Given the description of an element on the screen output the (x, y) to click on. 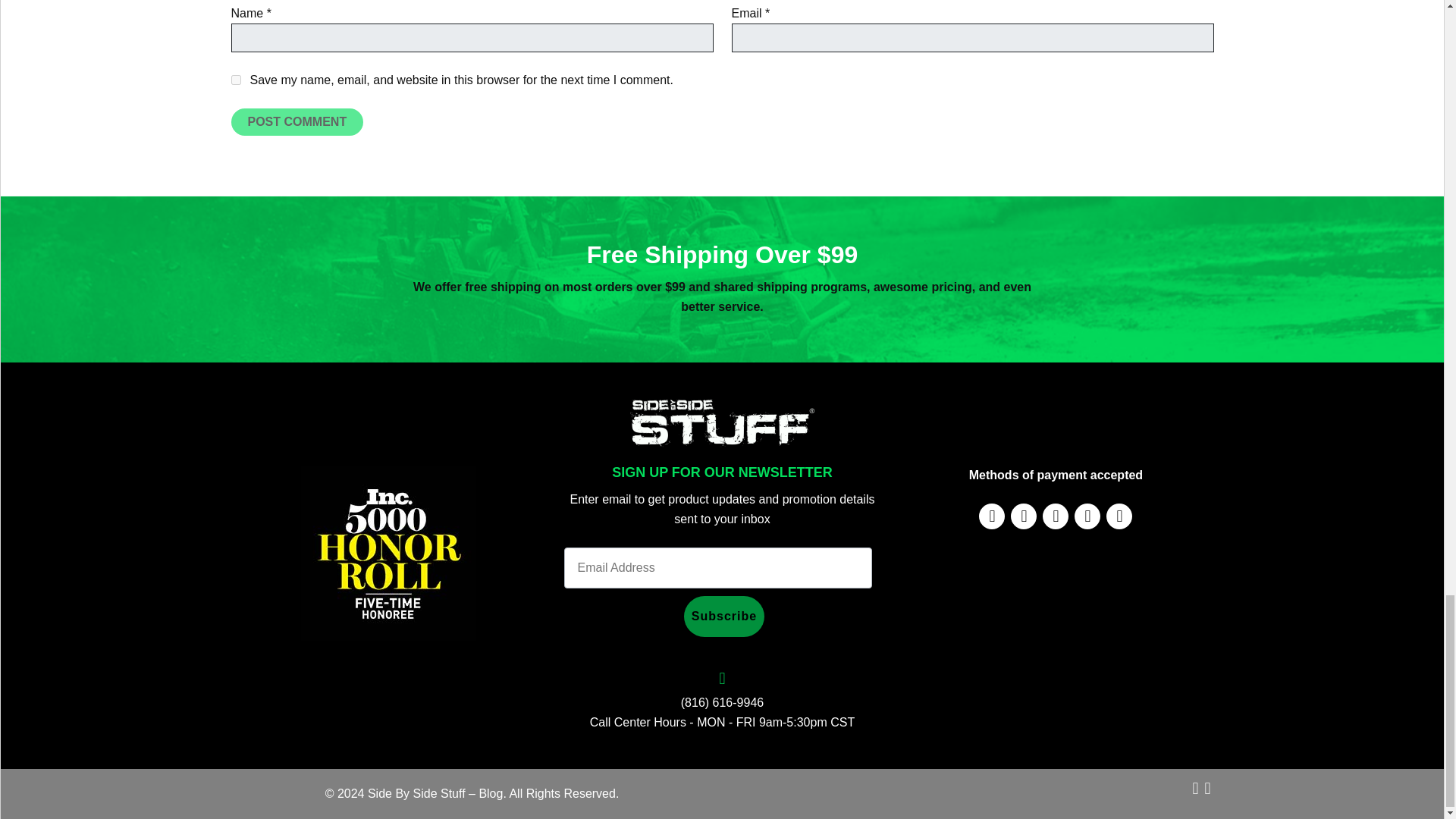
Subscribe (724, 616)
yes (235, 80)
Post Comment (296, 121)
Post Comment (296, 121)
